Given the description of an element on the screen output the (x, y) to click on. 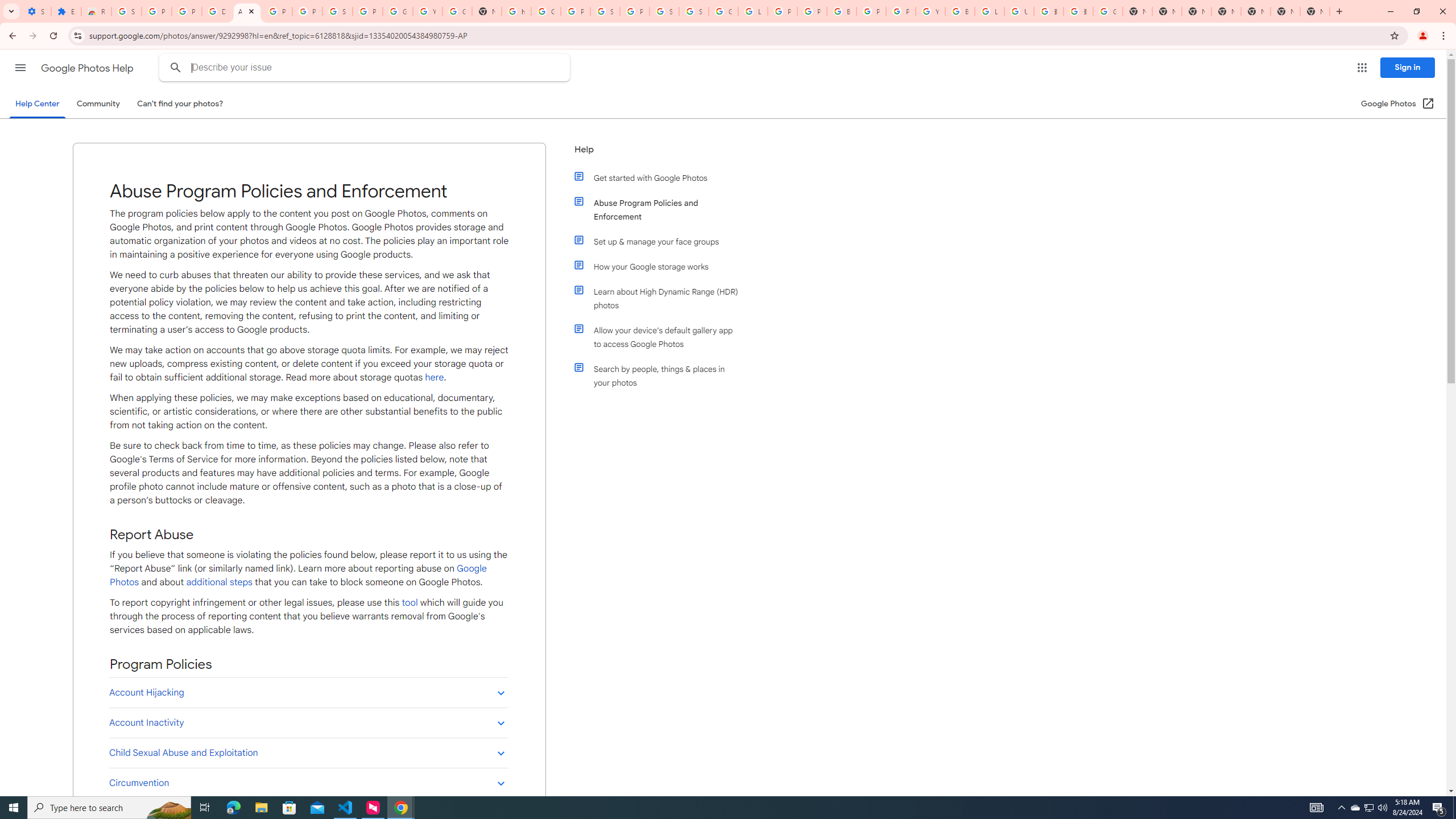
Abuse Program Policies and Enforcement (661, 209)
Circumvention (308, 782)
here (434, 377)
Sign in - Google Accounts (693, 11)
Delete photos & videos - Computer - Google Photos Help (216, 11)
Reviews: Helix Fruit Jump Arcade Game (95, 11)
Child Sexual Abuse and Exploitation (308, 752)
YouTube (426, 11)
Google Account (397, 11)
Search Help Center (176, 67)
